Given the description of an element on the screen output the (x, y) to click on. 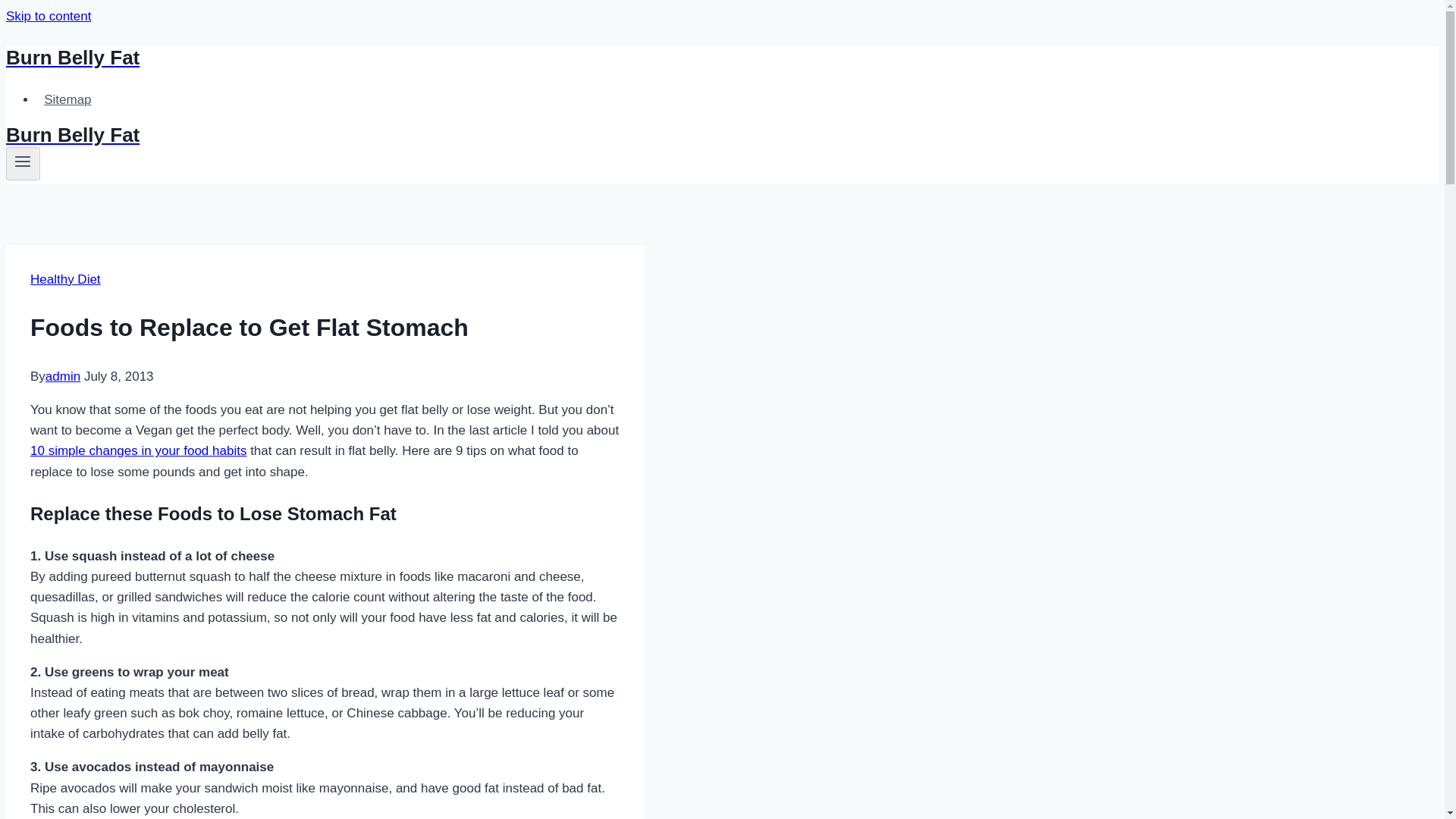
Burn Belly Fat (494, 57)
Eating Habits for Flat Belly (138, 450)
Toggle Menu (22, 161)
Healthy Diet (65, 278)
Sitemap (67, 99)
Burn Belly Fat (494, 135)
admin (62, 376)
10 simple changes in your food habits (138, 450)
Skip to content (47, 16)
Toggle Menu (22, 163)
